Given the description of an element on the screen output the (x, y) to click on. 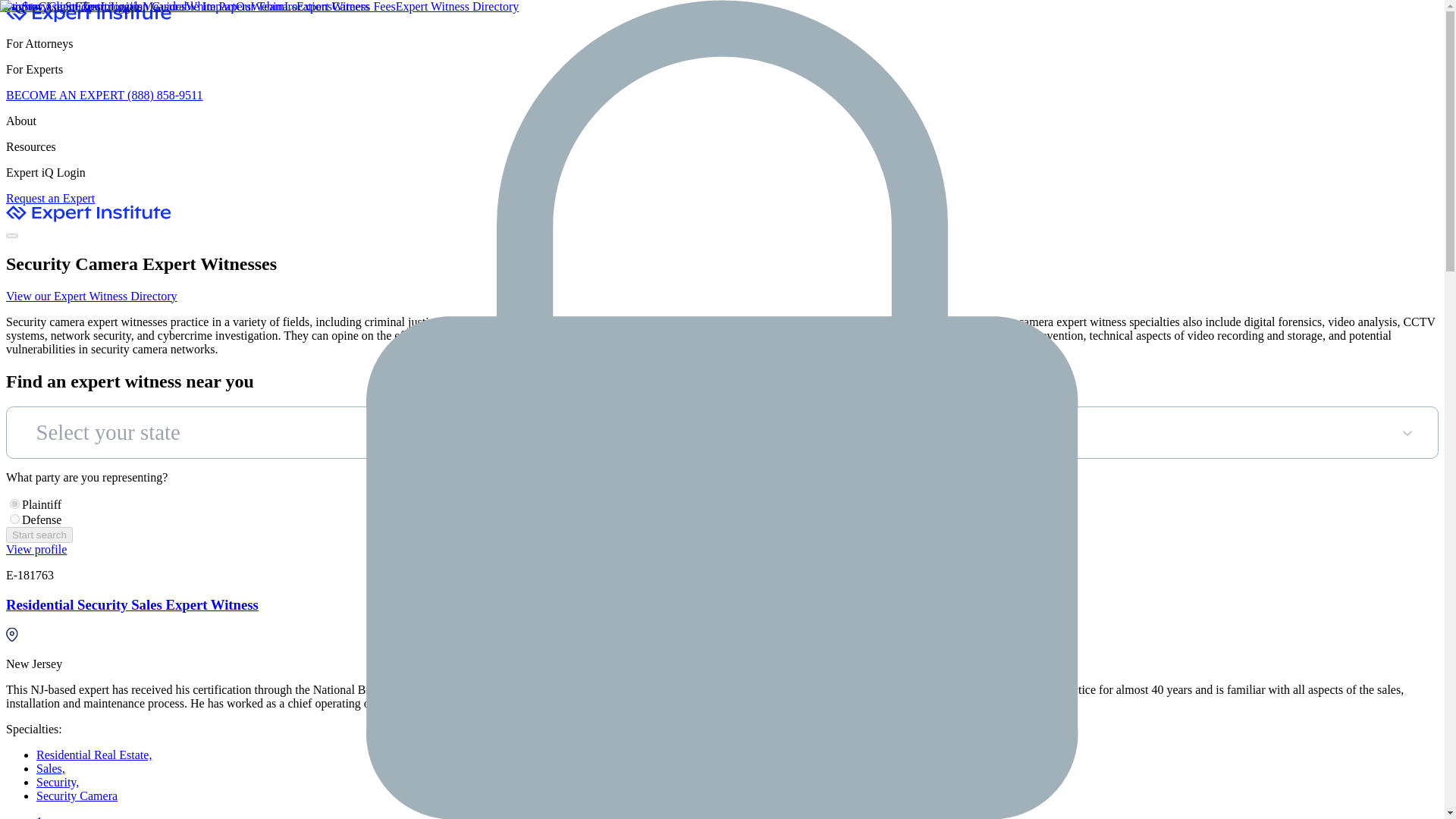
Residential Real Estate, (93, 754)
Our Story (24, 6)
Insights (19, 6)
View profile (35, 549)
Careers (350, 6)
Our Team (259, 6)
View our Expert Witness Directory (91, 295)
Plaintiff (15, 503)
Client Testimonials (95, 6)
